Given the description of an element on the screen output the (x, y) to click on. 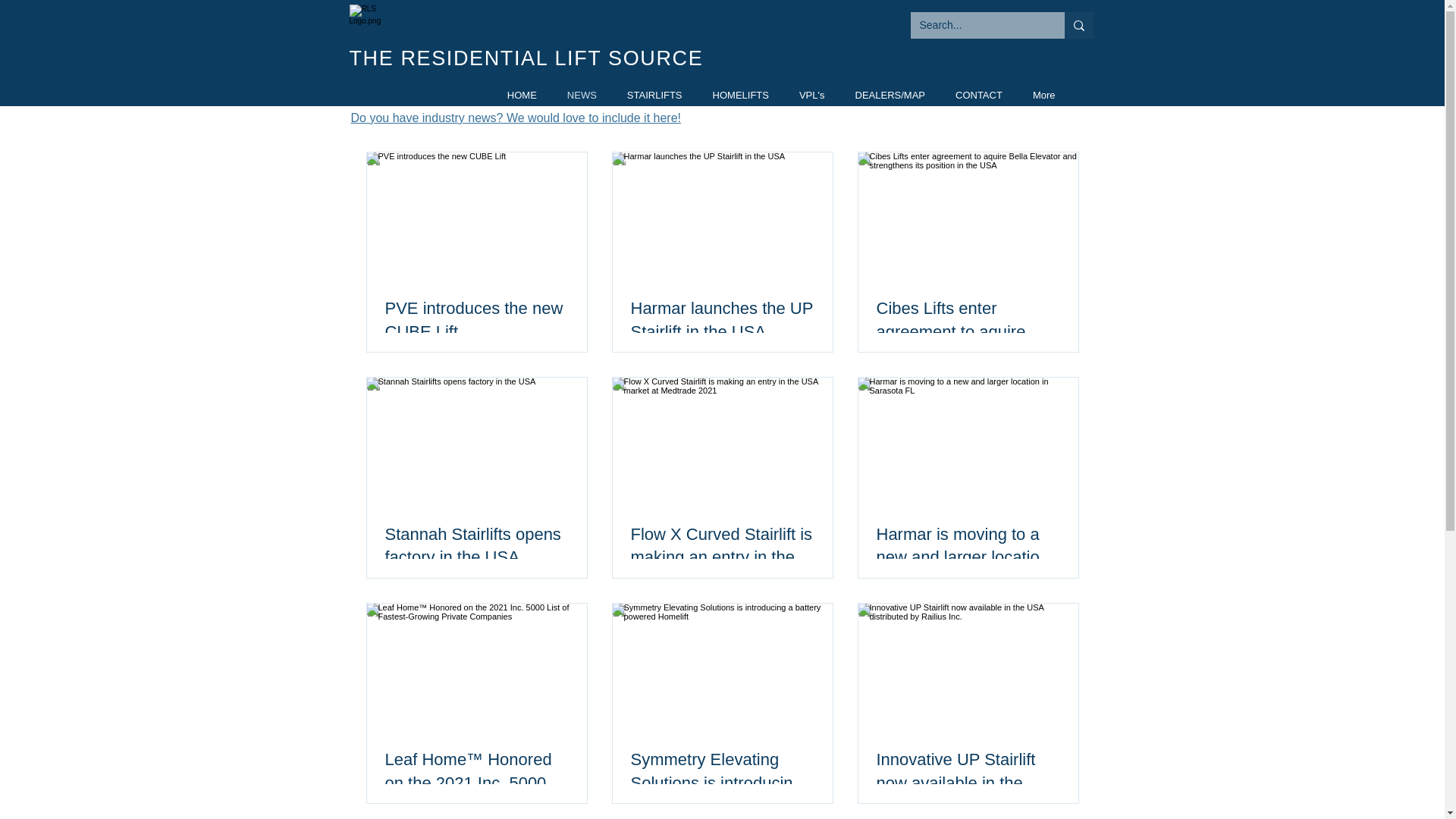
Stannah Stairlifts opens factory in the USA (477, 546)
Harmar launches the UP Stairlift in the USA (721, 320)
THE RESIDENTIAL LIFT SOURCE (526, 57)
Do you have industry news? We would love to include it here! (515, 117)
Harmar is moving to a new and larger location in Sarasota FL (967, 546)
HOMELIFTS (740, 97)
CONTACT (978, 97)
